Given the description of an element on the screen output the (x, y) to click on. 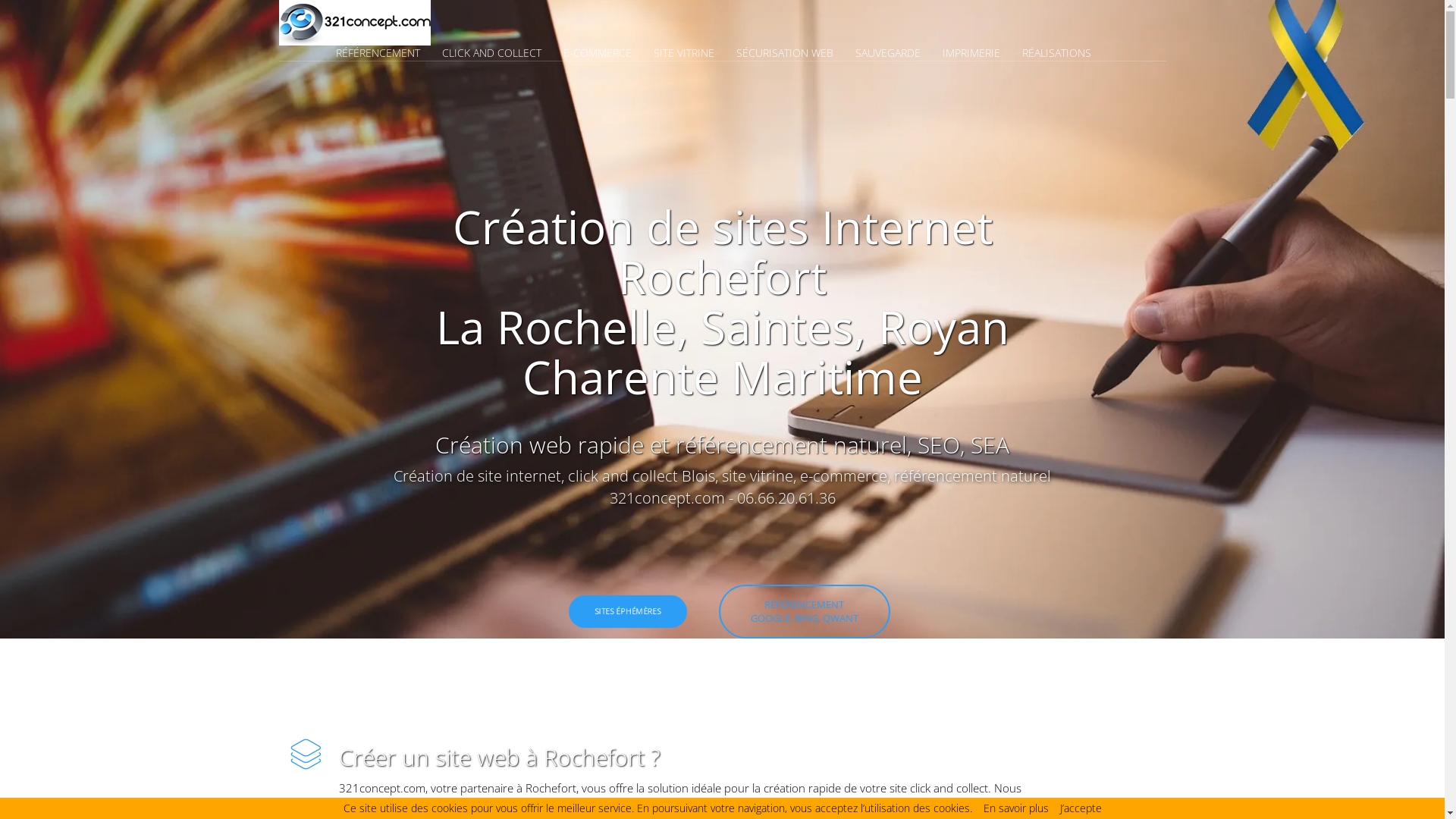
En savoir plus Element type: text (1015, 807)
SAUVEGARDE Element type: text (897, 52)
CLICK AND COLLECT Element type: text (500, 52)
E-COMMERCE Element type: text (605, 52)
SITE VITRINE Element type: text (693, 52)
IMPRIMERIE Element type: text (979, 52)
